Given the description of an element on the screen output the (x, y) to click on. 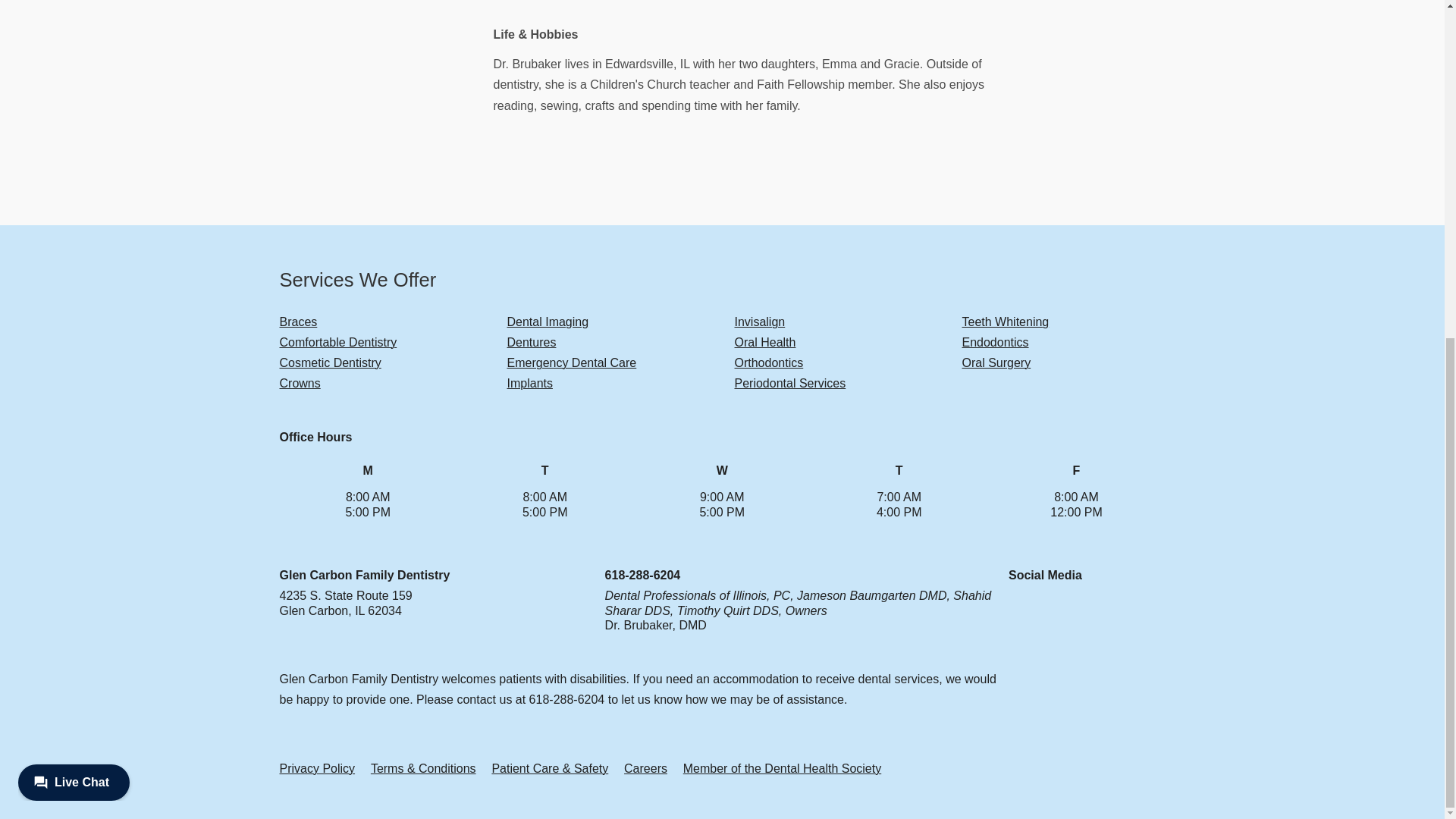
Endodontics (993, 341)
Braces (298, 321)
Member of the Dental Health Society (781, 768)
Facebook (1020, 608)
Periodontal Services (789, 382)
Emergency Dental Care (571, 362)
Teeth Whitening (1004, 321)
Privacy Policy (317, 768)
Invisalign (758, 321)
Orthodontics (768, 362)
Oral Health (763, 341)
Cosmetic Dentistry (329, 362)
Oral Surgery (995, 362)
618-288-6204 (643, 574)
Dentures (531, 341)
